Given the description of an element on the screen output the (x, y) to click on. 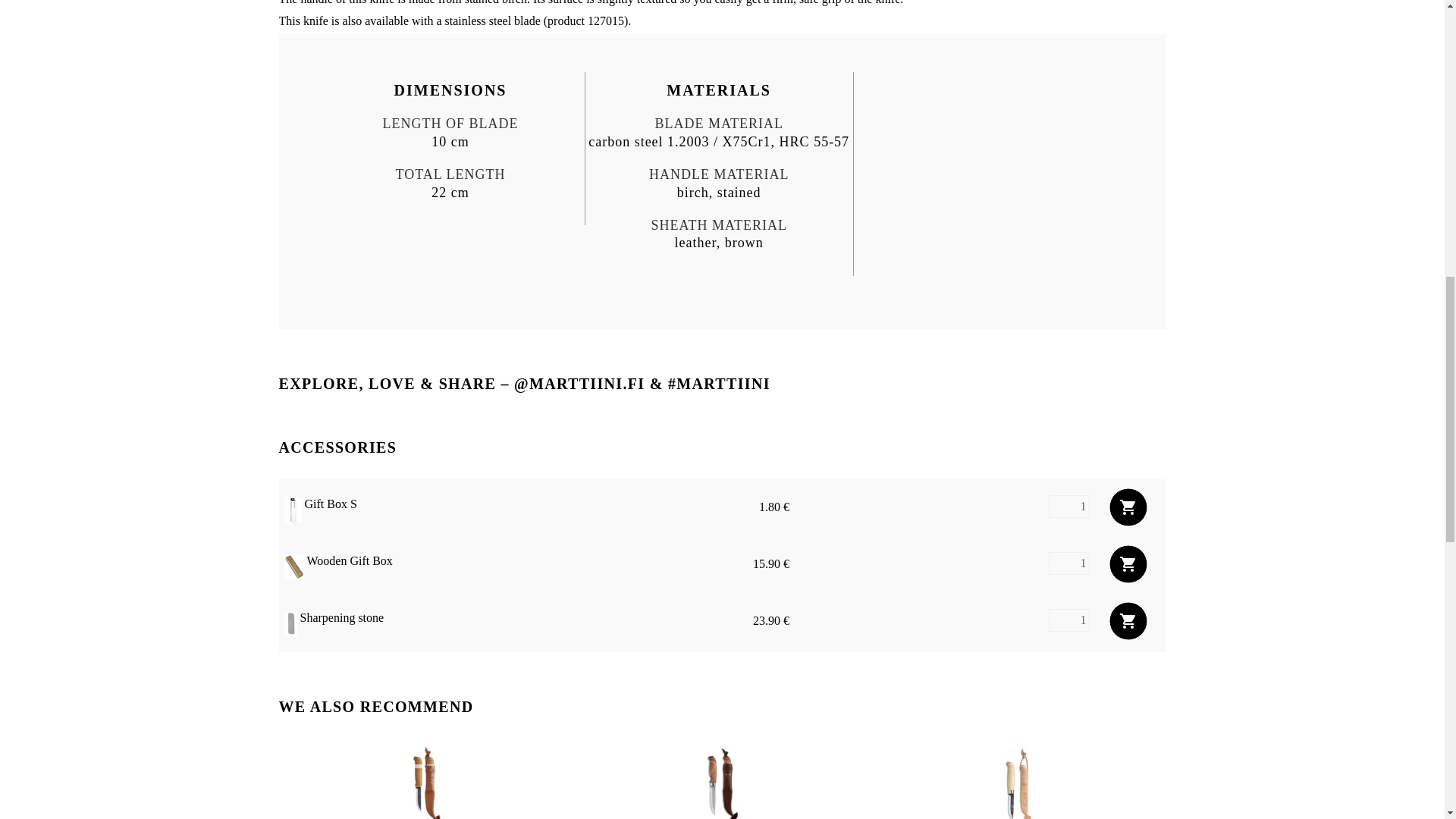
1 (1068, 506)
Add to basket (1127, 506)
Add to basket (1127, 563)
1 (1068, 563)
1 (1068, 620)
Go to product (426, 782)
Add to basket (1127, 620)
